Given the description of an element on the screen output the (x, y) to click on. 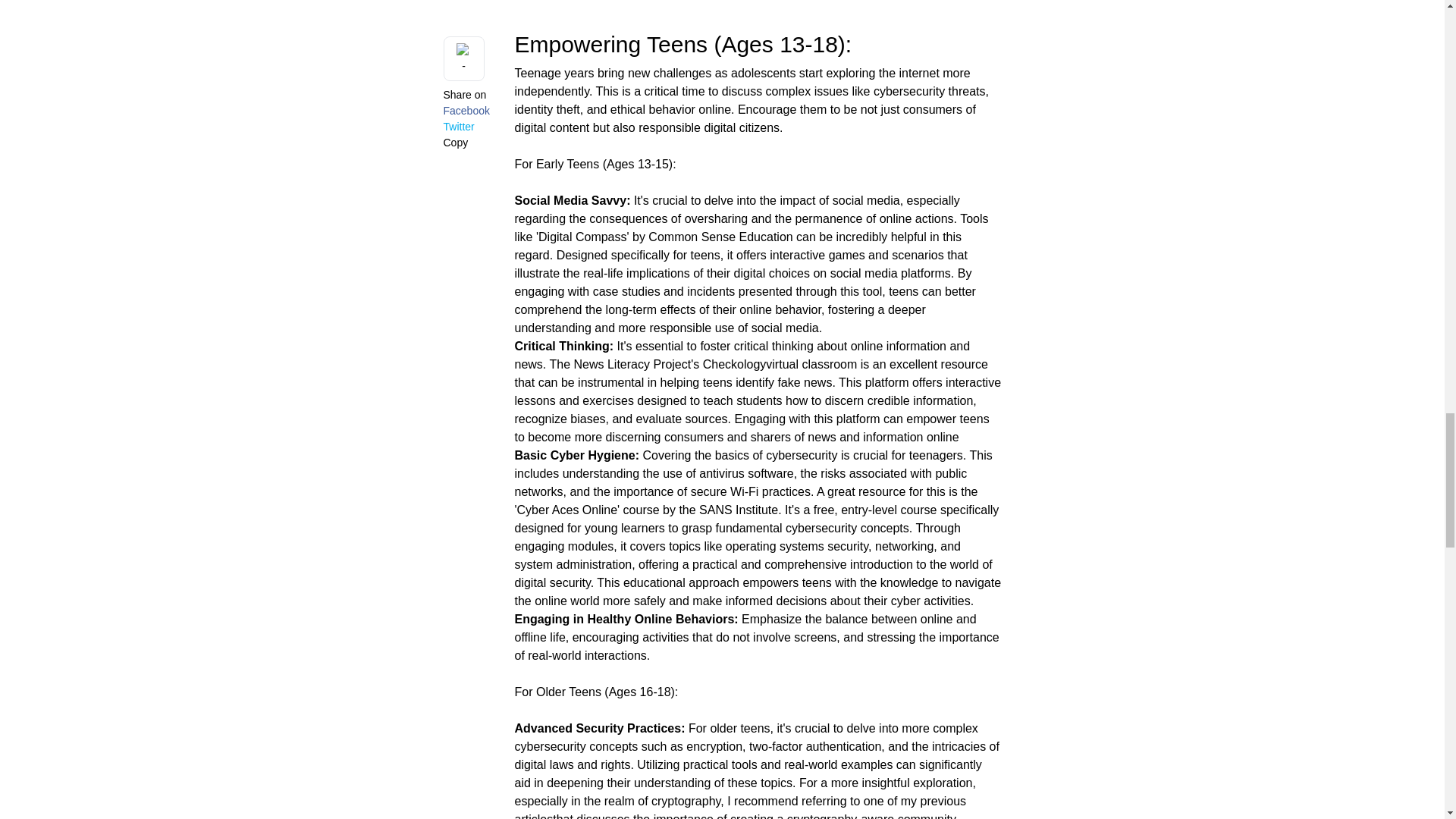
The News Literacy Project's Checkology (656, 364)
Digital Compass (582, 236)
my previous articles (739, 806)
Cyber Aces Online (566, 509)
